Given the description of an element on the screen output the (x, y) to click on. 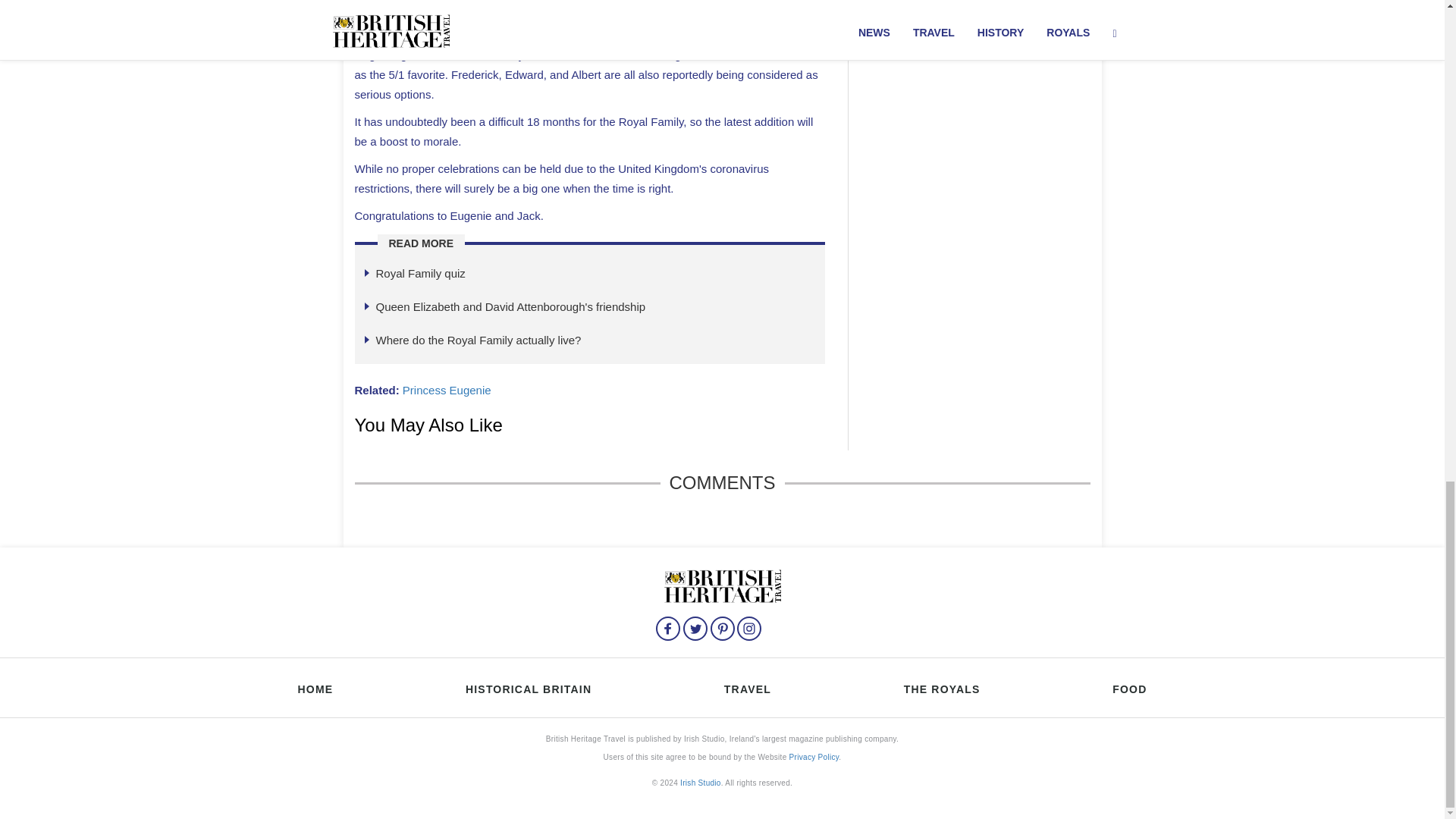
Royal Family quiz (420, 273)
Where do the Royal Family actually live? (477, 339)
Queen Elizabeth and David Attenborough's friendship (510, 306)
footer-logo (721, 584)
Princess Eugenie (447, 390)
